Given the description of an element on the screen output the (x, y) to click on. 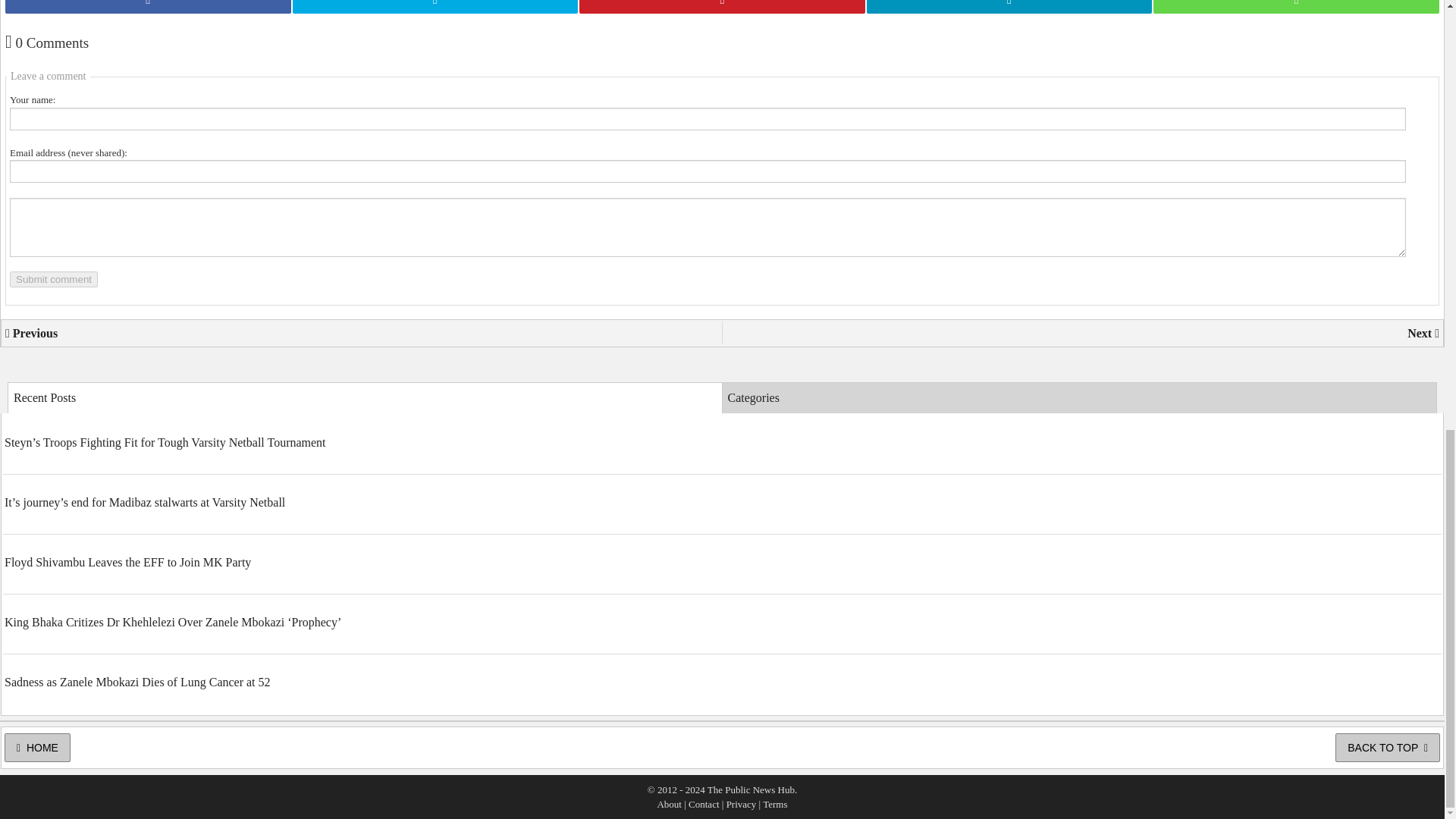
Submit comment (53, 279)
Next (1082, 333)
Submit comment (53, 279)
Previous (361, 333)
